Given the description of an element on the screen output the (x, y) to click on. 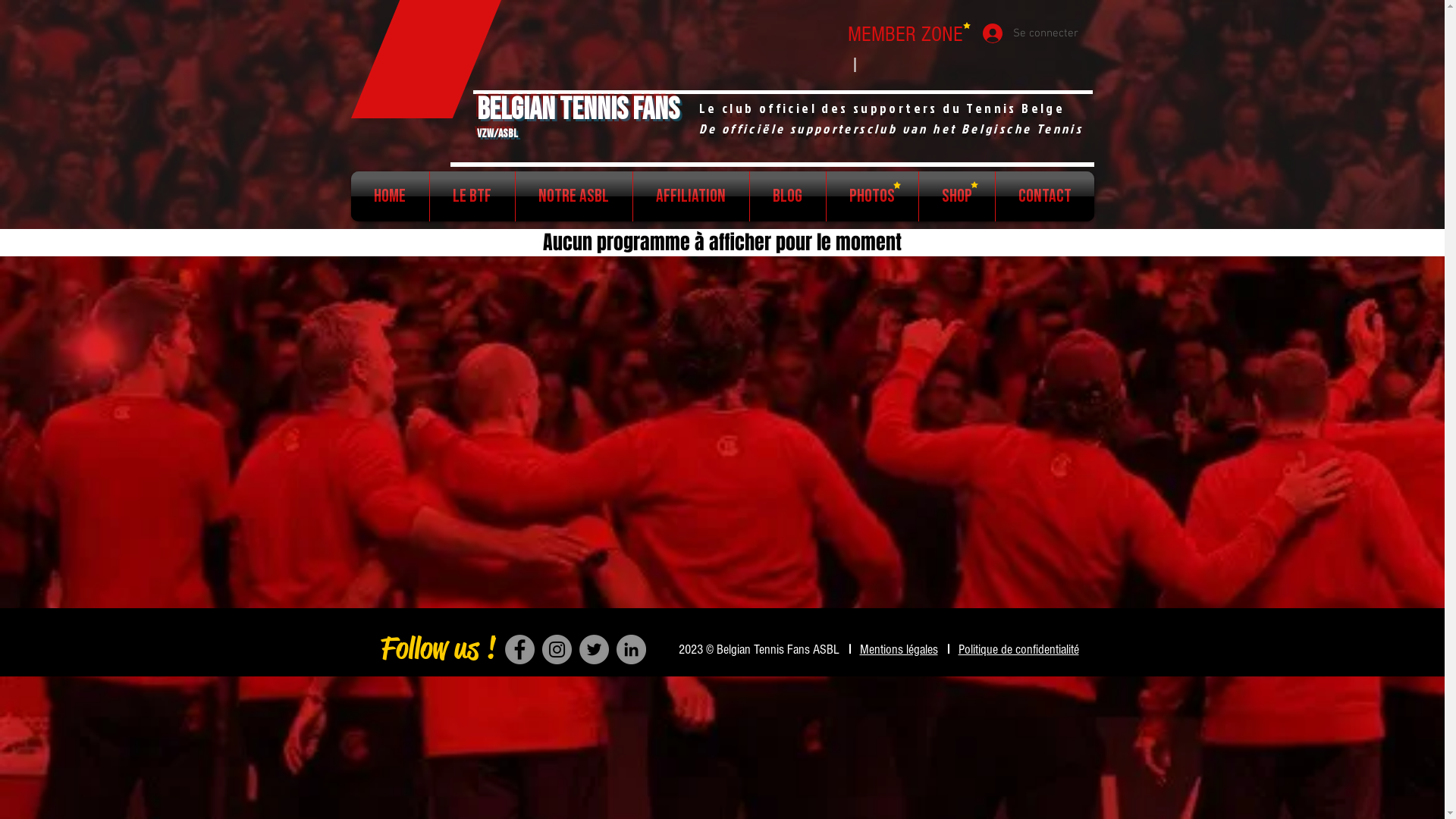
PHOTOS Element type: text (872, 196)
BLOG Element type: text (787, 196)
Se connecter Element type: text (1030, 32)
LE BTF Element type: text (471, 196)
BELGIAN TENNIS FANS Element type: text (577, 109)
AFFILIATION Element type: text (690, 196)
vzw/ASBL Element type: text (496, 127)
HOME Element type: text (389, 196)
NOTRE ASBL Element type: text (573, 196)
CONTACT Element type: text (1043, 196)
SHOP Element type: text (956, 196)
